Given the description of an element on the screen output the (x, y) to click on. 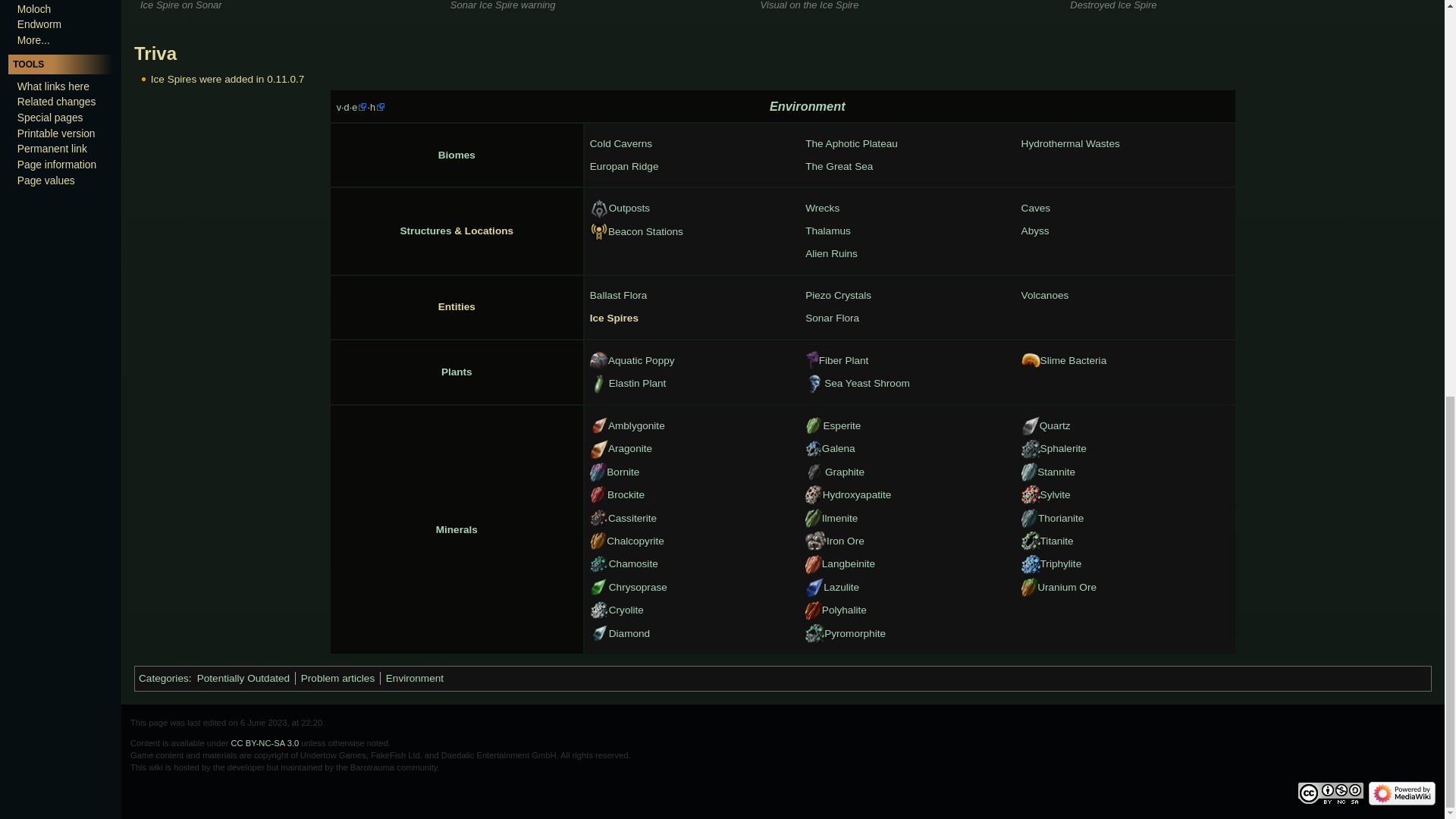
Beacon Stations (645, 231)
Outposts (628, 208)
Thalamus (827, 231)
Cold Caverns (620, 143)
The Great Sea (838, 166)
Environment (807, 106)
Wrecks (822, 208)
e (359, 107)
The Aphotic Plateau (851, 143)
Hydrothermal Wastes (1070, 143)
Structures (425, 230)
Europan Ridge (624, 166)
h (377, 107)
Biomes (457, 154)
